Given the description of an element on the screen output the (x, y) to click on. 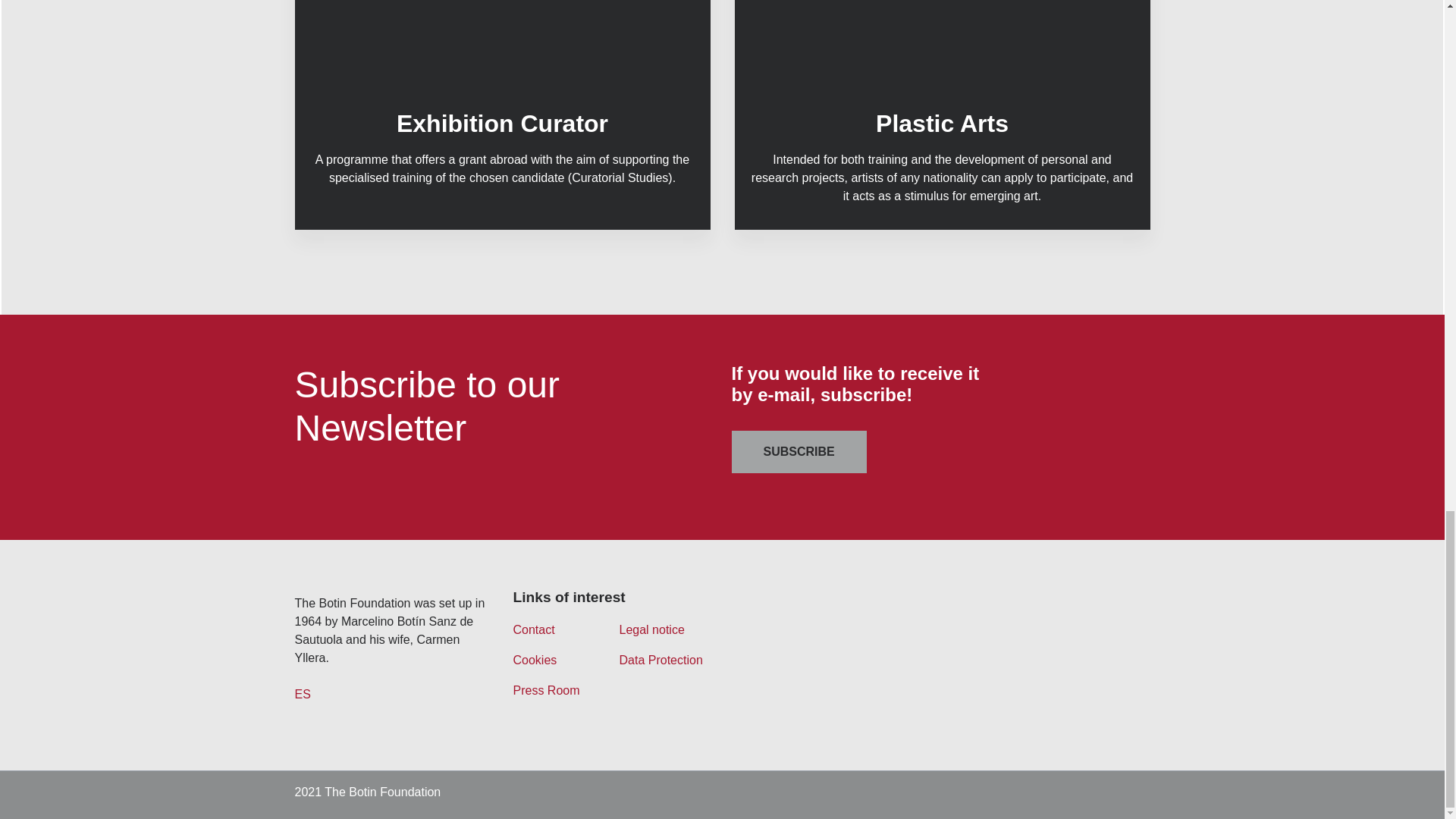
ES (302, 694)
